Given the description of an element on the screen output the (x, y) to click on. 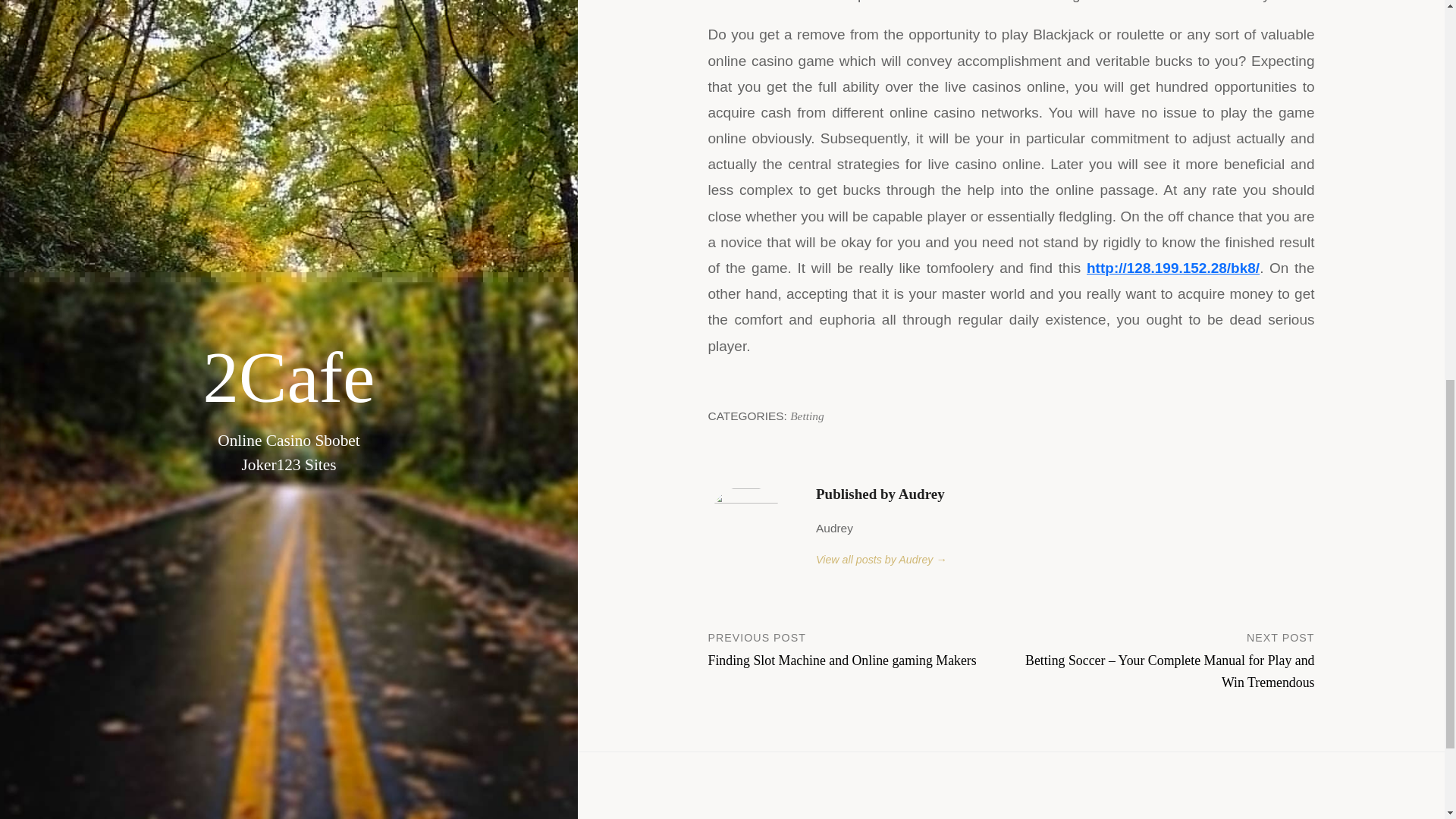
Betting (807, 415)
